Given the description of an element on the screen output the (x, y) to click on. 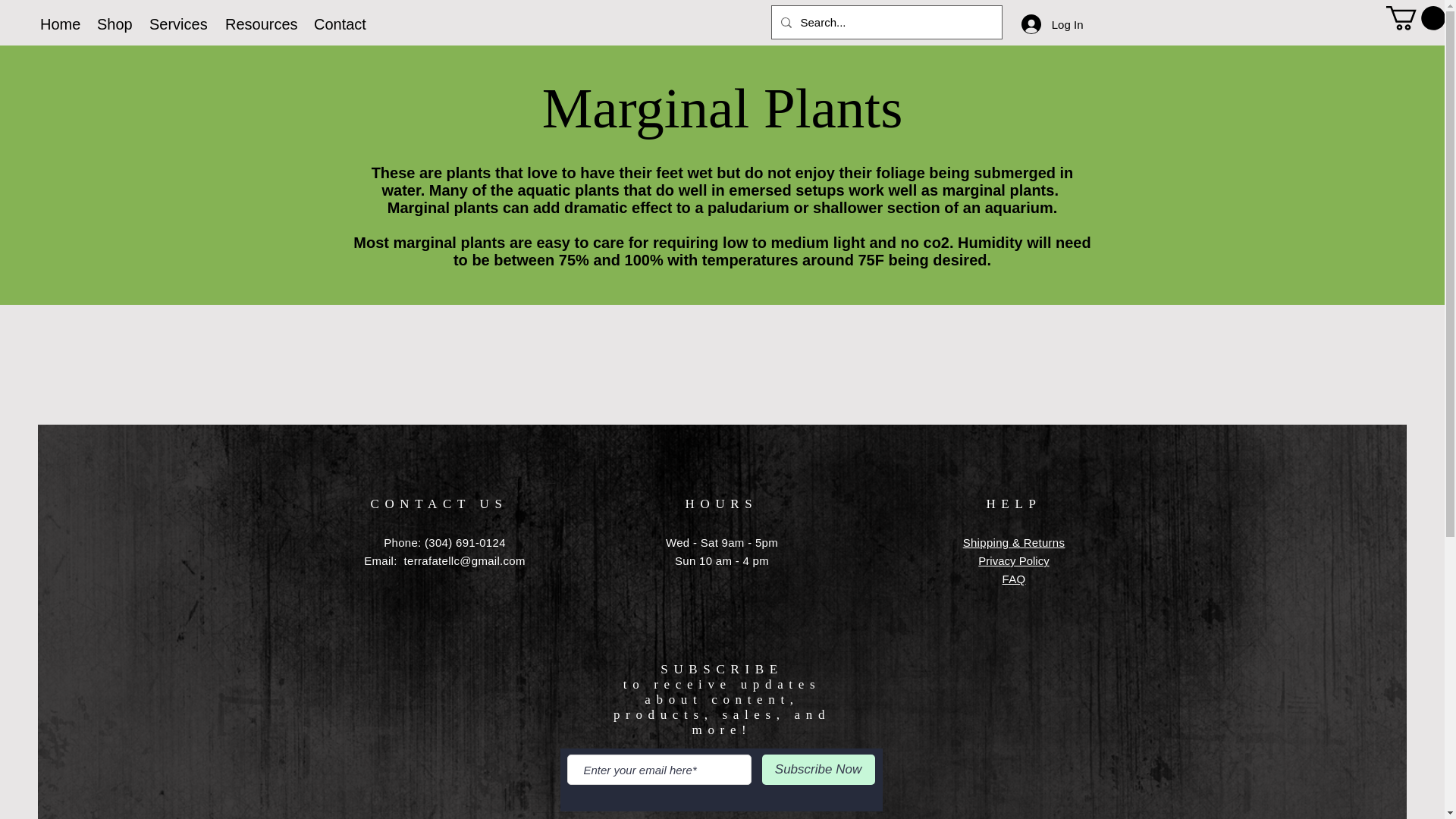
Log In (1052, 23)
Services (176, 24)
Sun 10 am - 4 pm (721, 560)
Home (57, 24)
FAQ (1014, 578)
Shop (111, 24)
Subscribe Now (818, 769)
Privacy Policy (1013, 560)
Resources (258, 24)
Contact (336, 24)
Wed - Sat 9am - 5pm (721, 542)
